Given the description of an element on the screen output the (x, y) to click on. 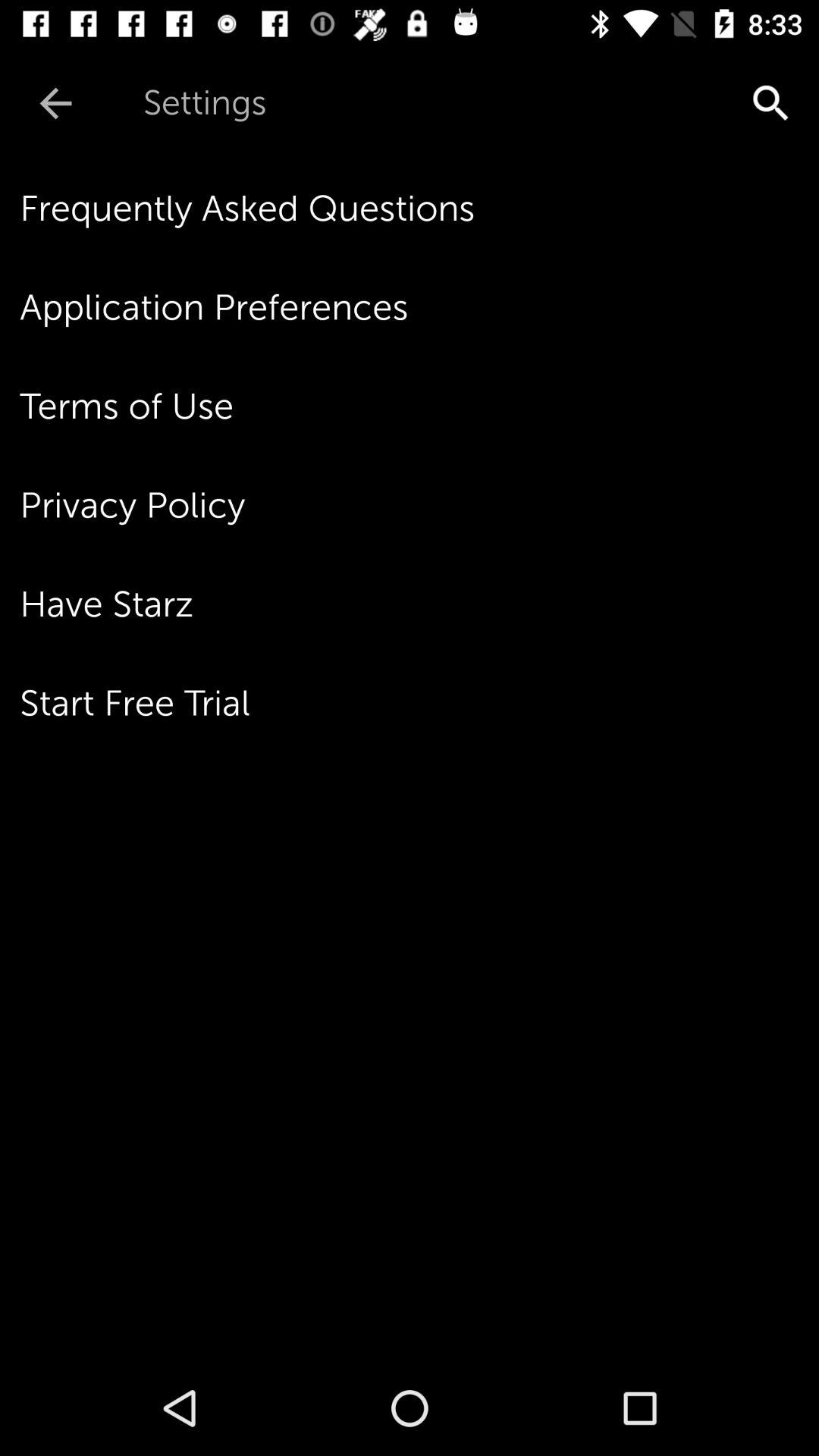
select the item to the right of settings (643, 103)
